Given the description of an element on the screen output the (x, y) to click on. 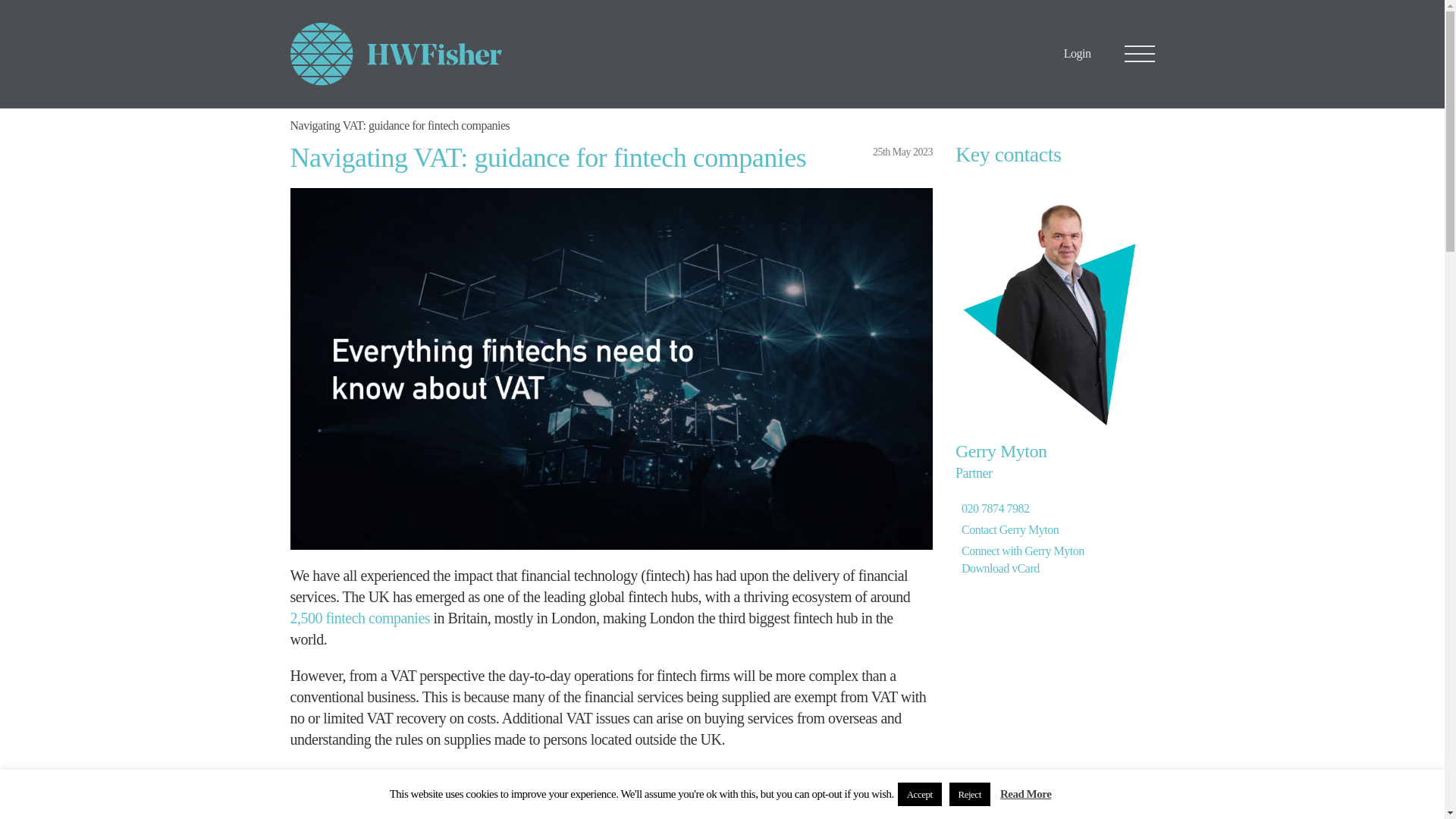
Call: Gerry Myton (994, 508)
HW Fisher - Chartered Accountants (395, 53)
020 7874 7982 (994, 508)
Contact Gerry Myton (1009, 529)
Gerry Myton Partner  (1000, 460)
Download vCard for Gerry Myton (999, 567)
Download vCard (999, 567)
Contact Gerry Myton (1009, 529)
Connect with Gerry Myton (1022, 550)
Login (1077, 52)
